Given the description of an element on the screen output the (x, y) to click on. 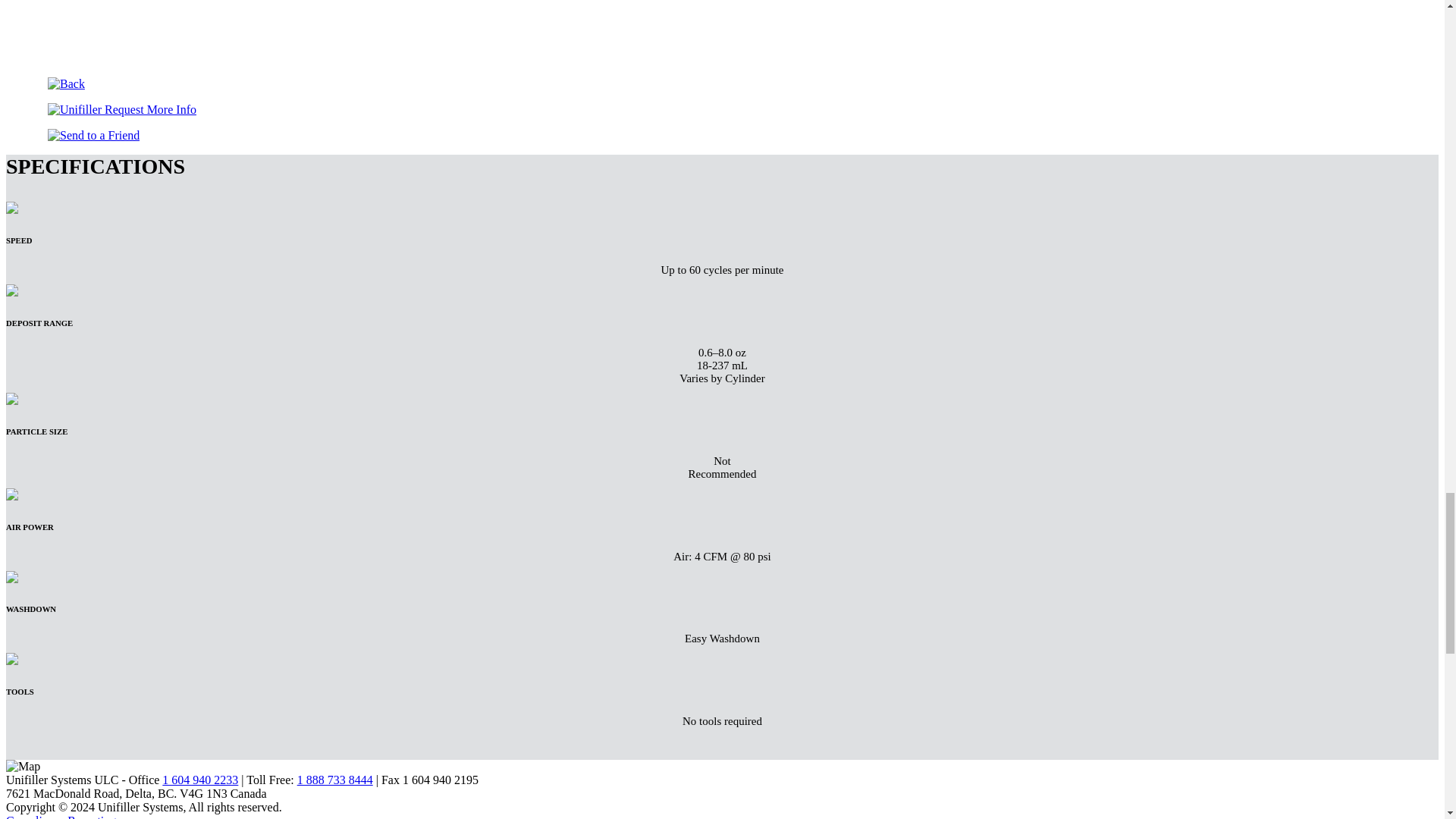
RequestMoreInfo (122, 110)
Back (66, 83)
SendtoaFriend (93, 135)
